Given the description of an element on the screen output the (x, y) to click on. 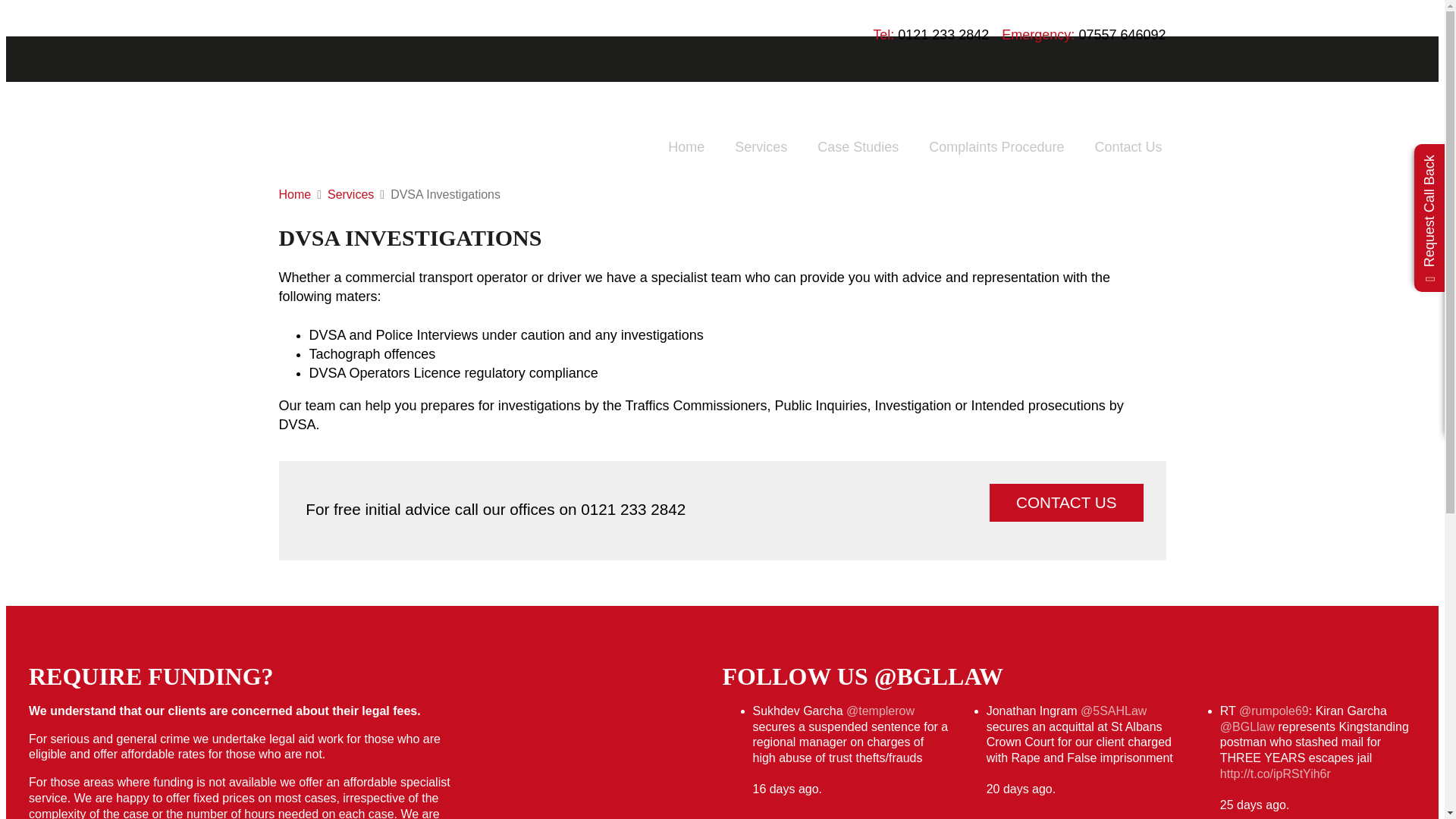
Home (303, 194)
Contact Us (1128, 147)
Bailey Garcha Solicitors (481, 57)
Services (358, 194)
Services (760, 147)
CONTACT US (1066, 502)
Complaints Procedure (995, 147)
Case Studies (857, 147)
Home (685, 147)
